Given the description of an element on the screen output the (x, y) to click on. 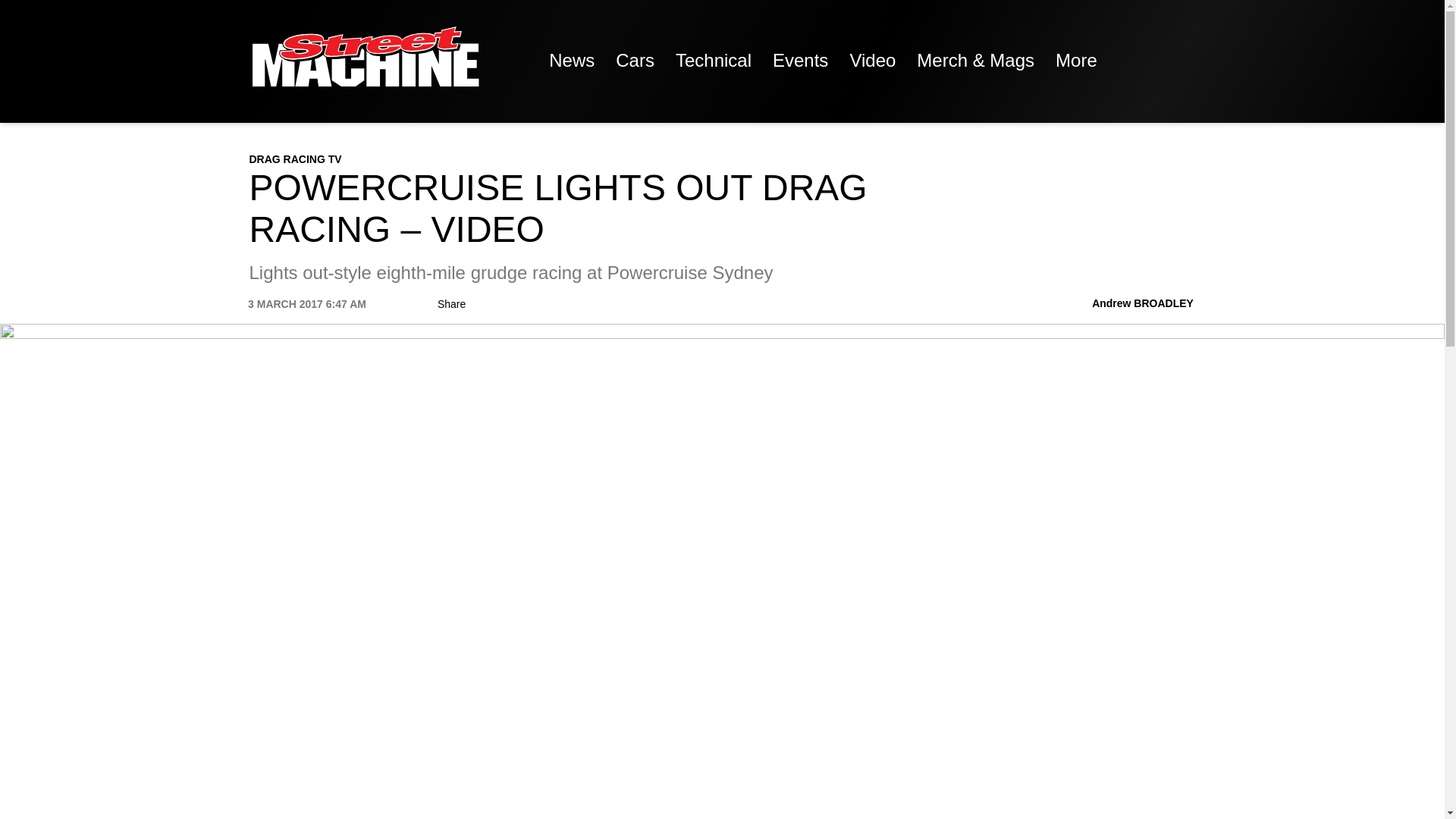
Cars (635, 61)
Technical (713, 61)
News (571, 61)
Video (871, 61)
Events (799, 61)
